Given the description of an element on the screen output the (x, y) to click on. 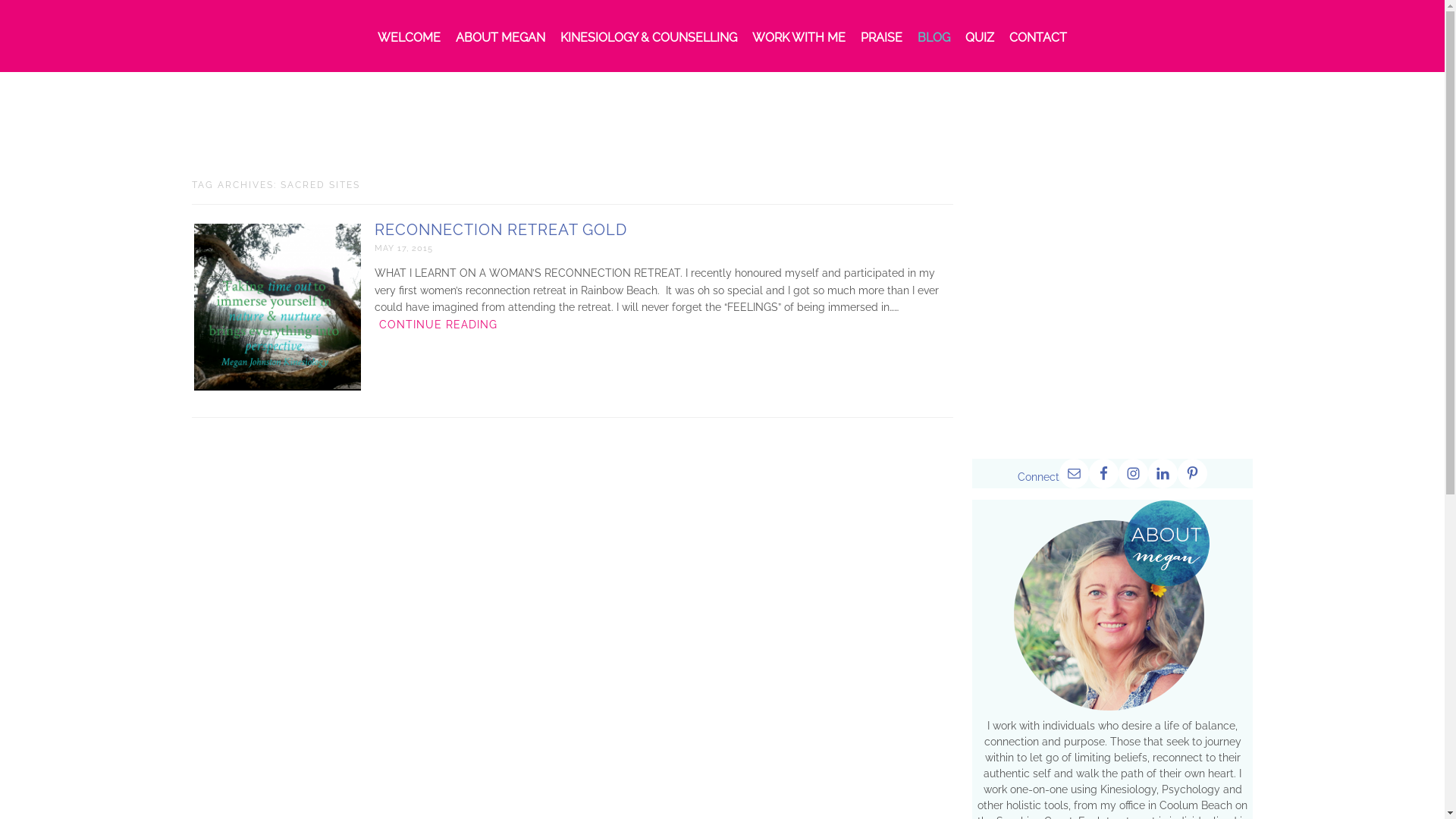
CONTACT Element type: text (1037, 37)
WORK WITH ME Element type: text (798, 37)
WELCOME Element type: text (409, 37)
CONTINUE READING Element type: text (438, 324)
BLOG Element type: text (933, 37)
PRAISE Element type: text (881, 37)
ABOUT MEGAN Element type: text (500, 37)
KINESIOLOGY & COUNSELLING Element type: text (648, 37)
QUIZ Element type: text (979, 37)
RECONNECTION RETREAT GOLD Element type: text (500, 229)
